Given the description of an element on the screen output the (x, y) to click on. 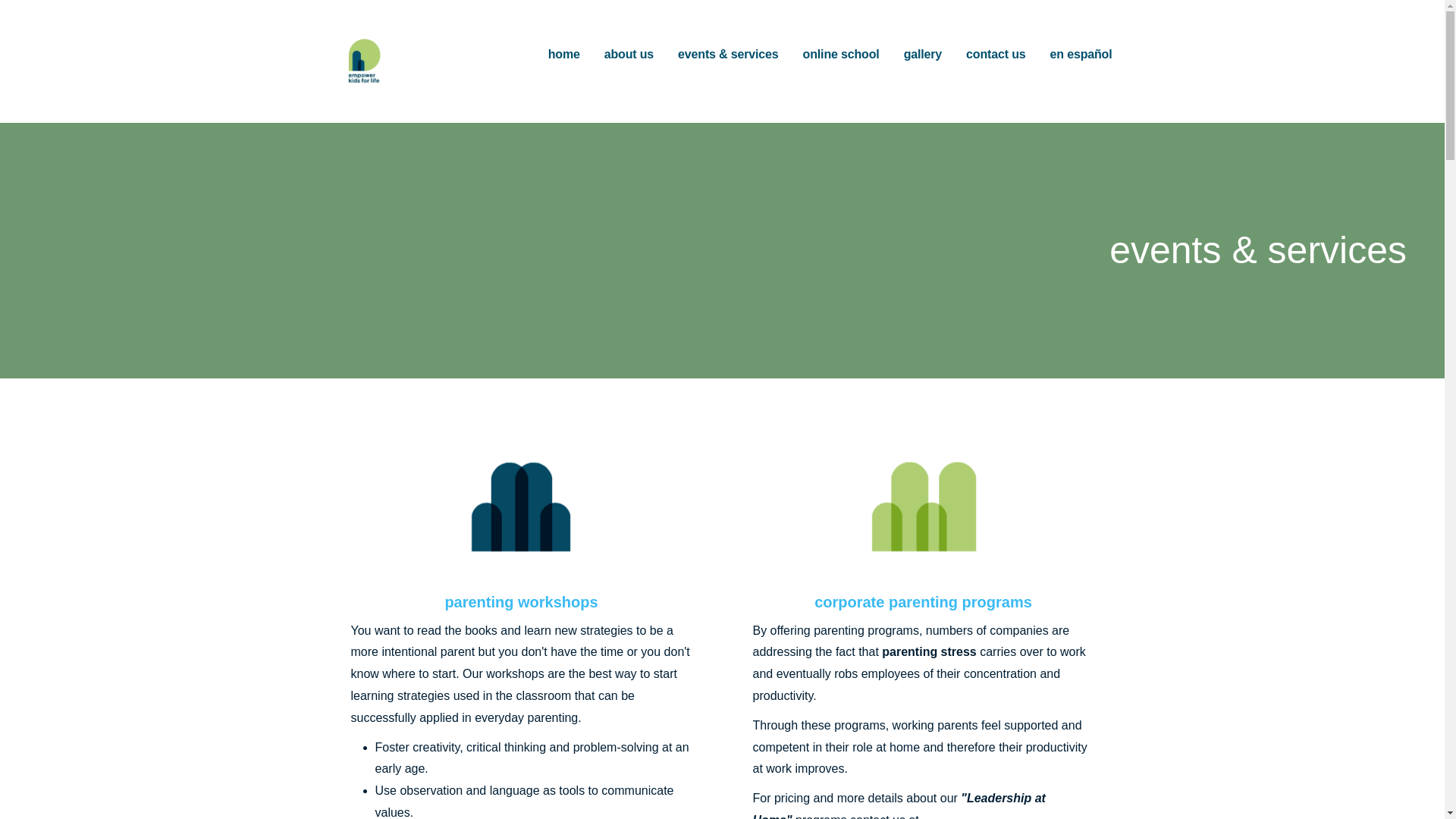
contact us (995, 55)
corporate parenting programs (922, 601)
Screen Shot 2017-10-08 at 3.00.21 PM (922, 511)
empower kids for life (462, 99)
about us (628, 55)
online school (841, 55)
home (563, 55)
parenting workshops (520, 601)
gallery (923, 55)
Screen Shot 2017-10-08 at 3.00.11 PM (521, 511)
